Given the description of an element on the screen output the (x, y) to click on. 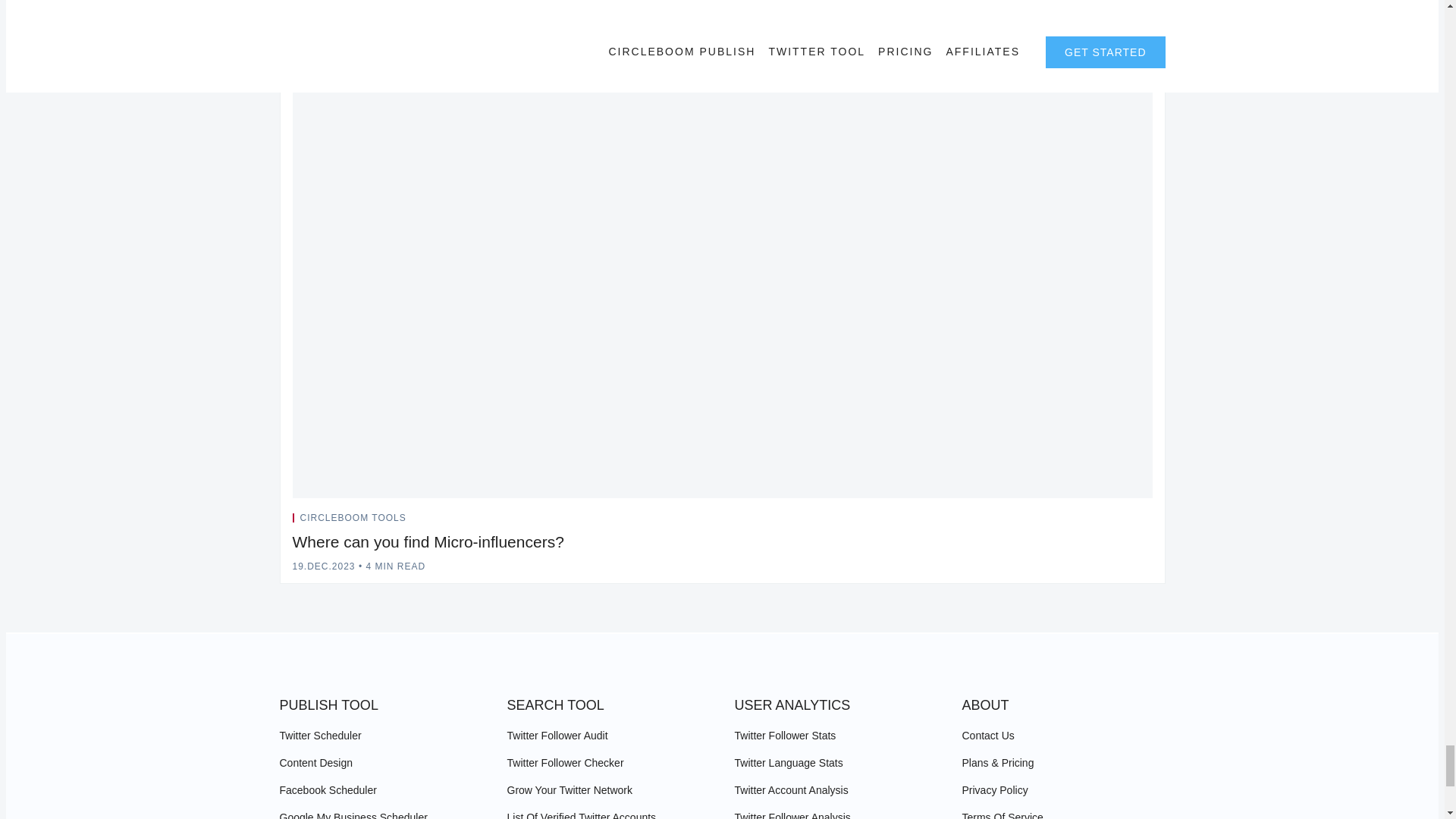
19 December 2023 (323, 566)
